Given the description of an element on the screen output the (x, y) to click on. 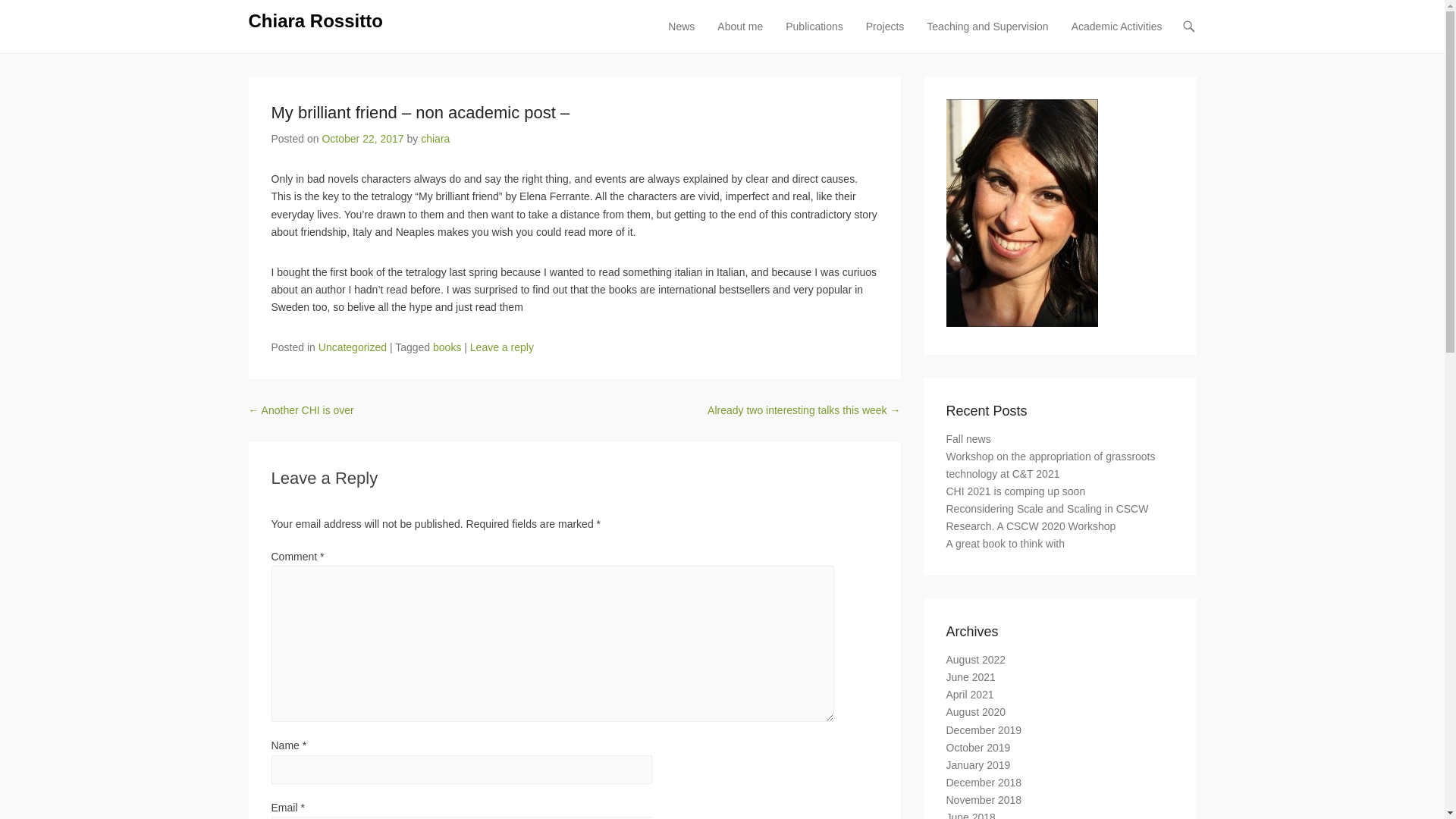
December 2019 (984, 729)
books (446, 346)
August 2022 (976, 659)
October 2019 (978, 747)
Skip to content (695, 27)
June 2021 (970, 676)
Projects (885, 35)
October 22, 2017 (362, 138)
Academic Activities (1117, 35)
